Given the description of an element on the screen output the (x, y) to click on. 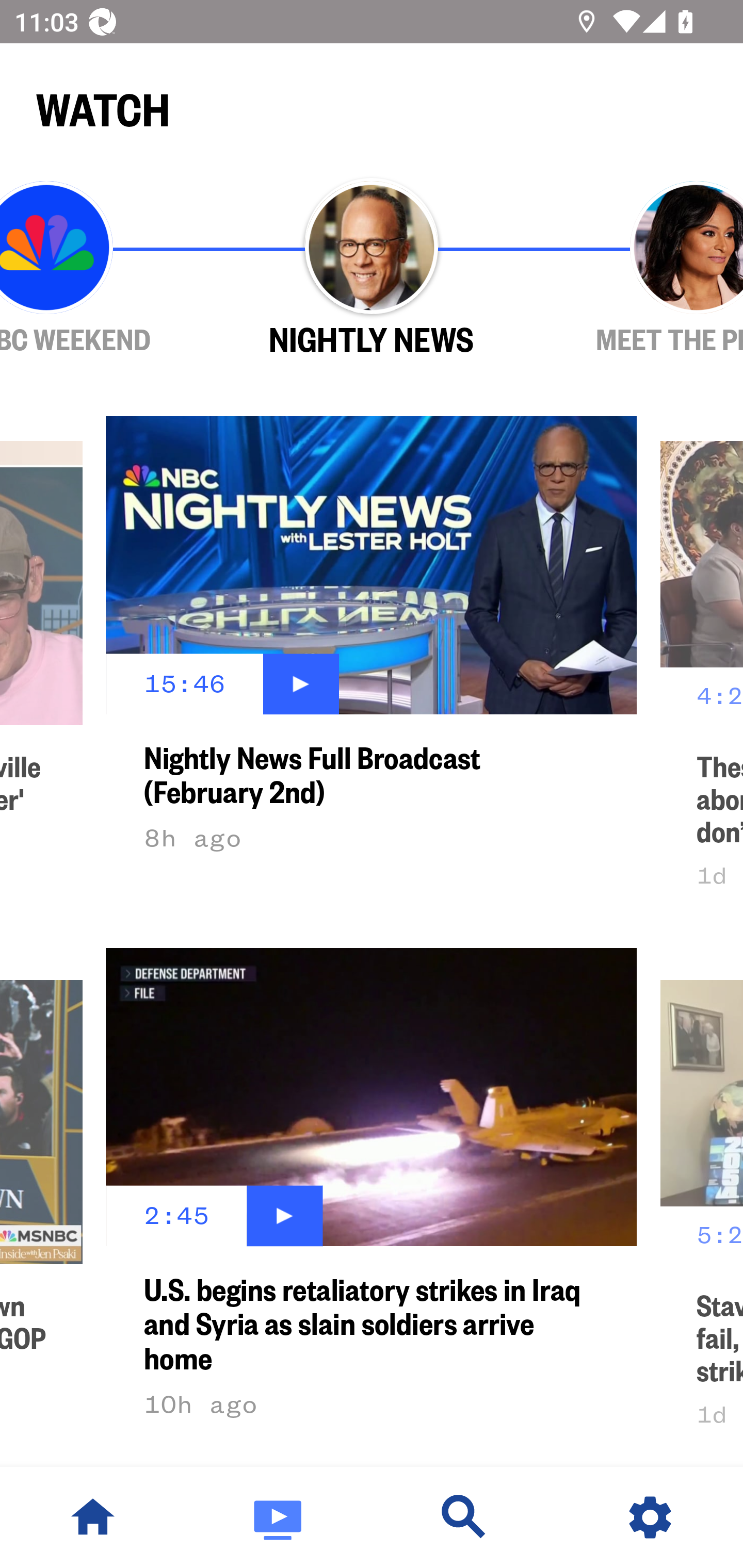
MSNBC WEEKEND (104, 268)
NIGHTLY NEWS (371, 268)
MEET THE PRESS (638, 268)
NBC News Home (92, 1517)
Discover (464, 1517)
Settings (650, 1517)
